Given the description of an element on the screen output the (x, y) to click on. 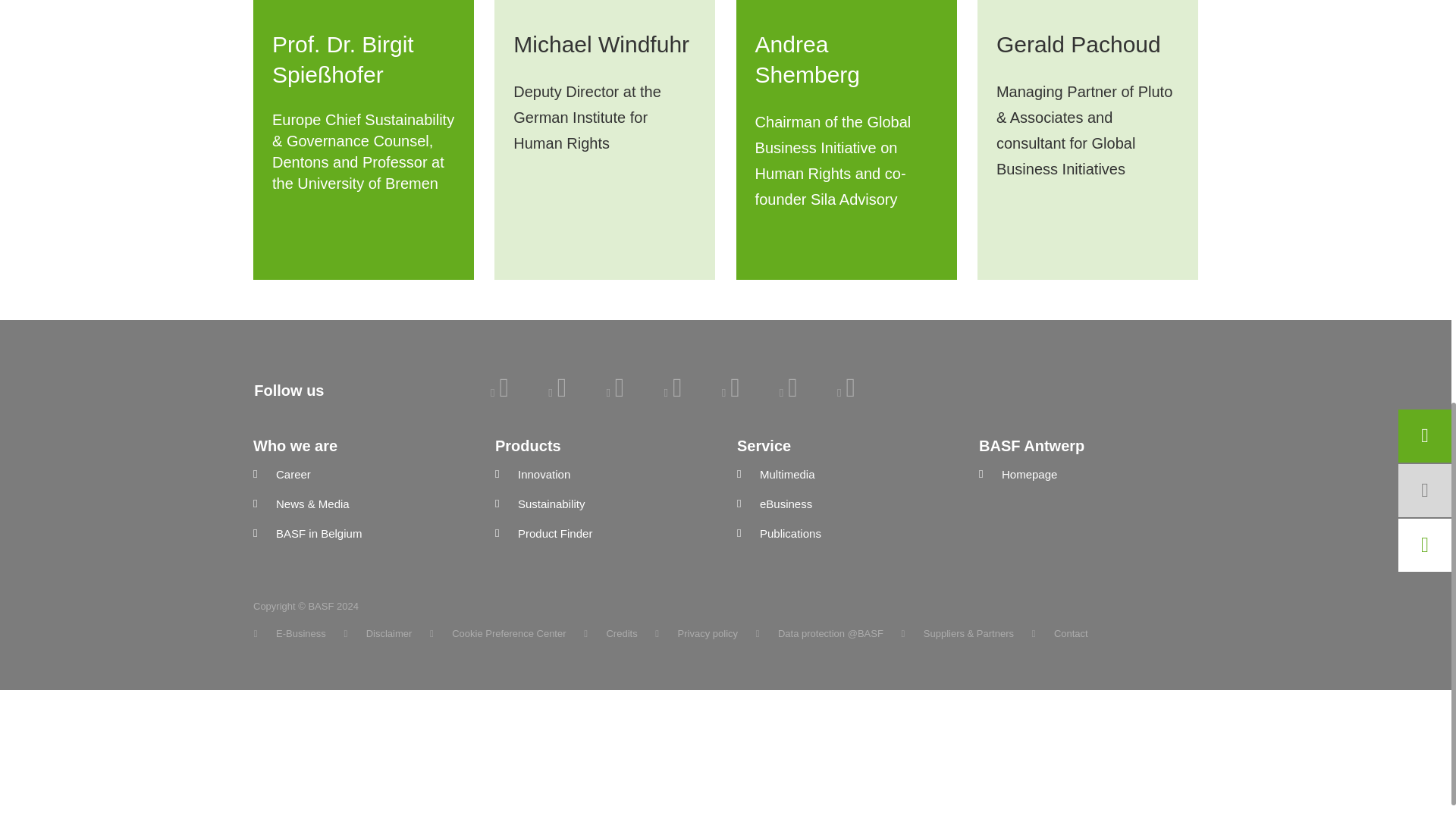
Join us on LinkedIn (499, 391)
BASF in Belgium (362, 533)
Career (362, 475)
